Given the description of an element on the screen output the (x, y) to click on. 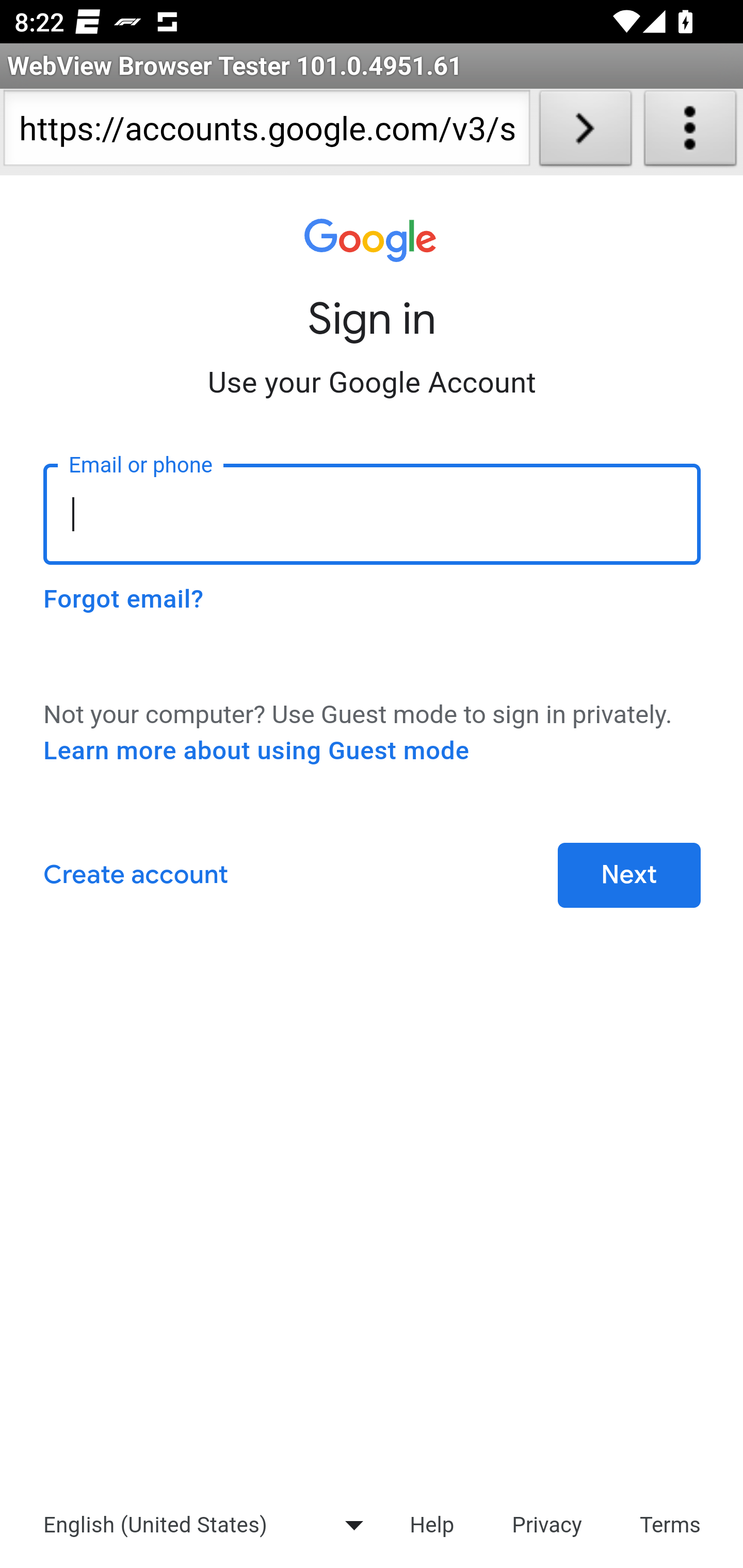
Load URL (585, 132)
About WebView (690, 132)
Forgot email? (123, 599)
Learn more about using Guest mode (256, 750)
Create account (134, 875)
Next (629, 875)
Help (430, 1524)
Privacy (547, 1524)
Terms (670, 1524)
